Given the description of an element on the screen output the (x, y) to click on. 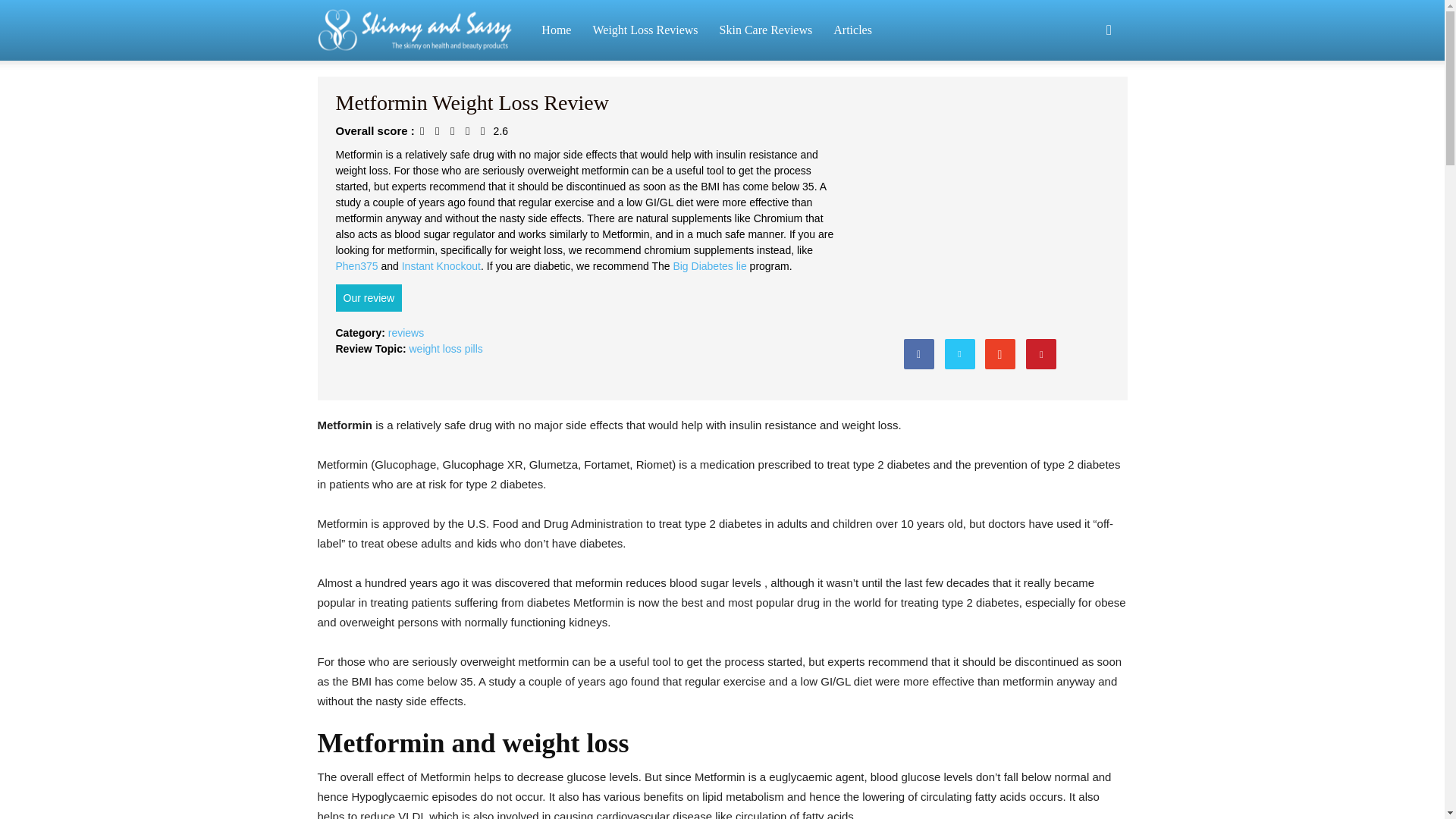
Weight Loss Reviews (643, 30)
Articles (852, 30)
Skin Care Reviews (766, 30)
SkinnyandSassy.com (424, 30)
